Given the description of an element on the screen output the (x, y) to click on. 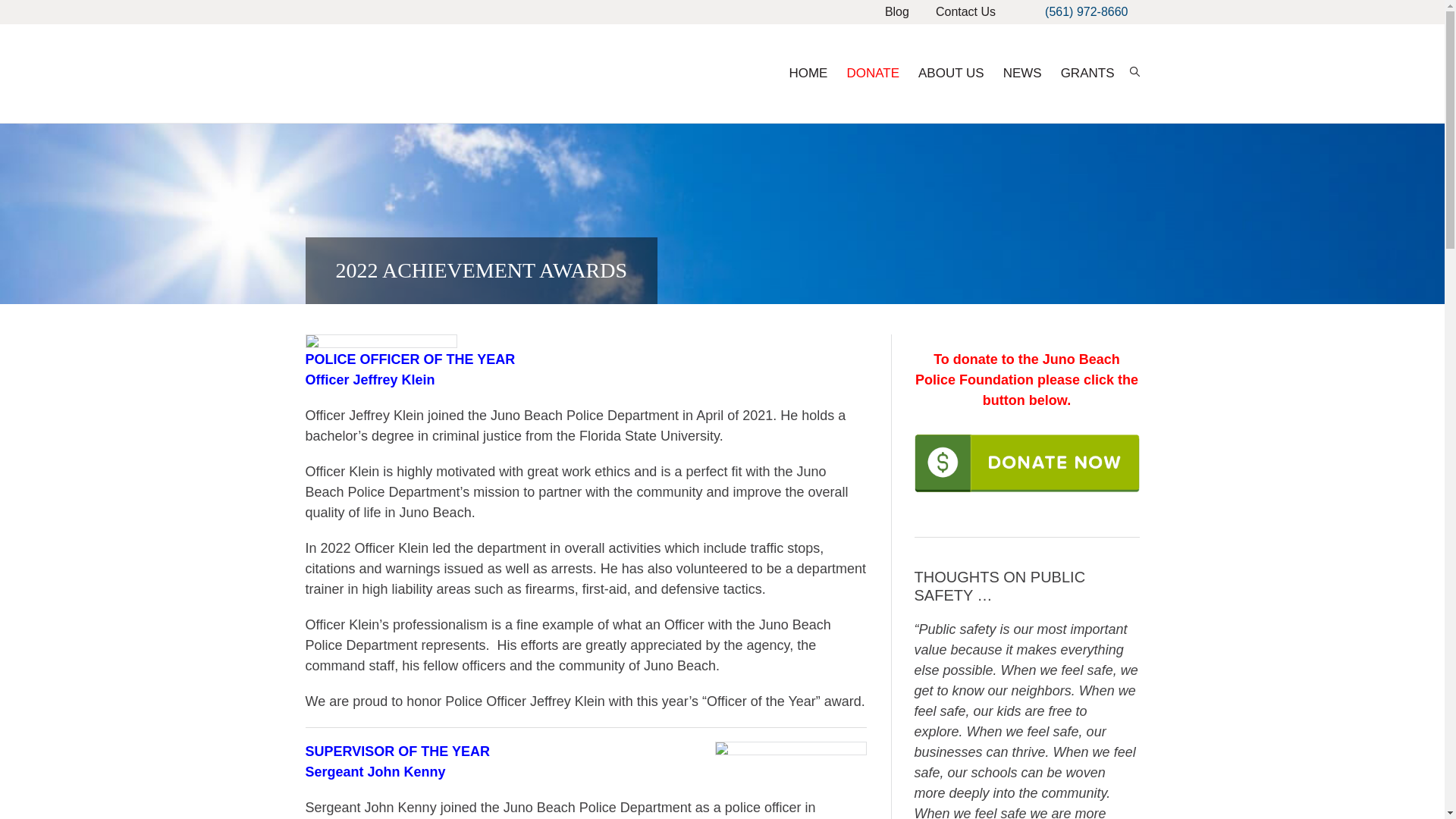
JUNO BEACH POLICE FOUNDATION (437, 72)
Contact Us (965, 12)
Blog (896, 12)
